Given the description of an element on the screen output the (x, y) to click on. 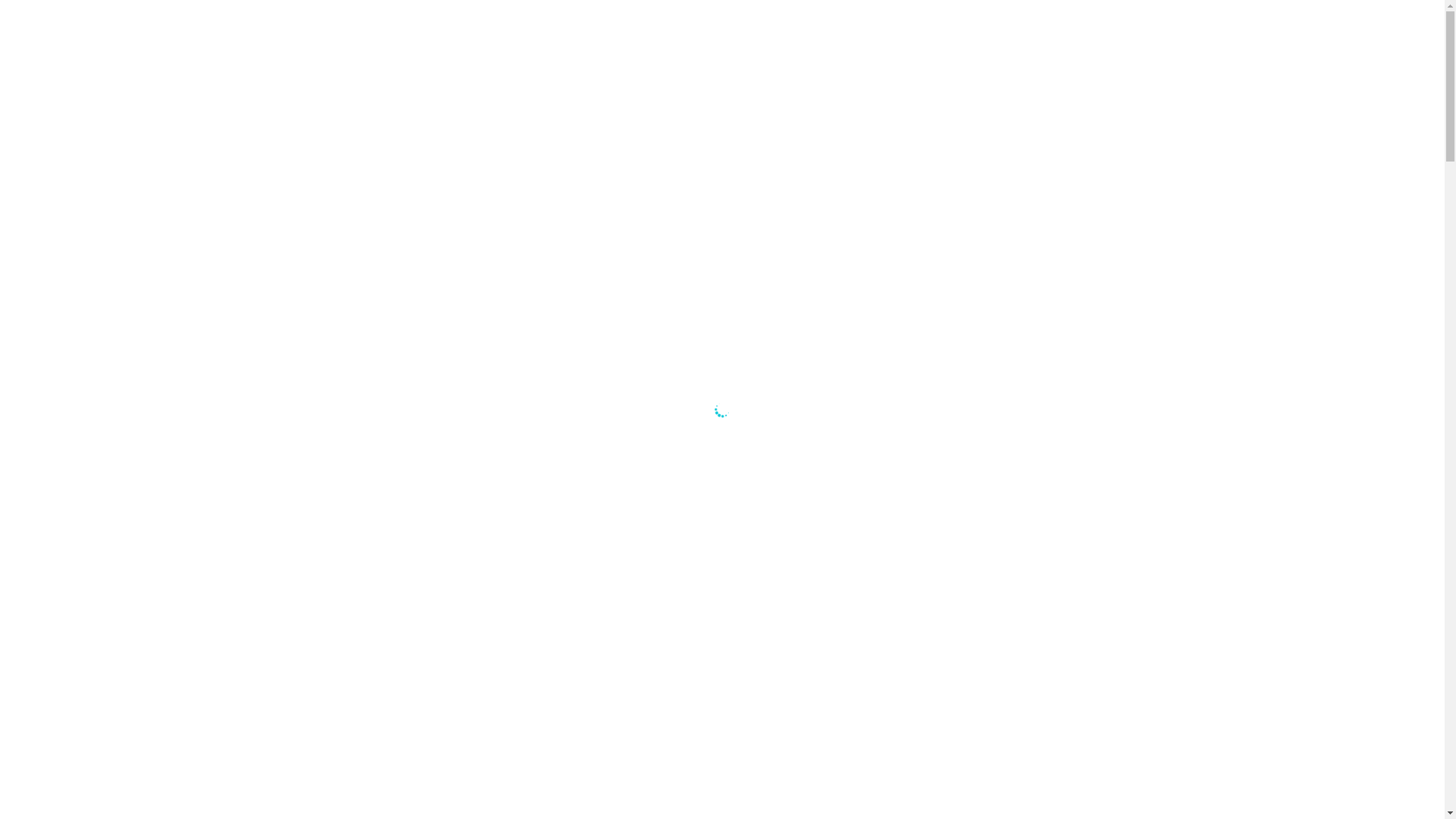
CONTACT Element type: text (68, 125)
EN Element type: text (50, 186)
100 il GARANT Element type: text (120, 40)
RU Element type: text (50, 157)
